Given the description of an element on the screen output the (x, y) to click on. 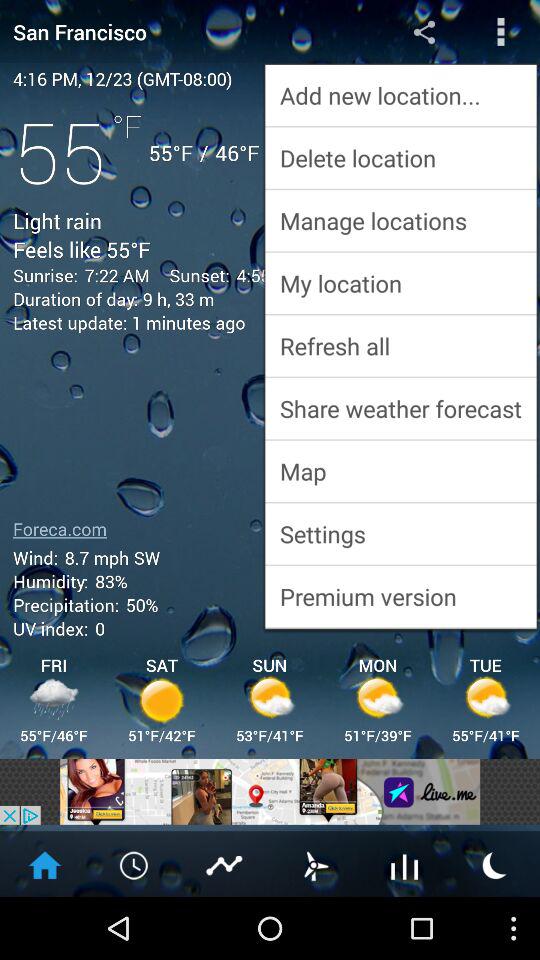
turn on delete location item (400, 157)
